Given the description of an element on the screen output the (x, y) to click on. 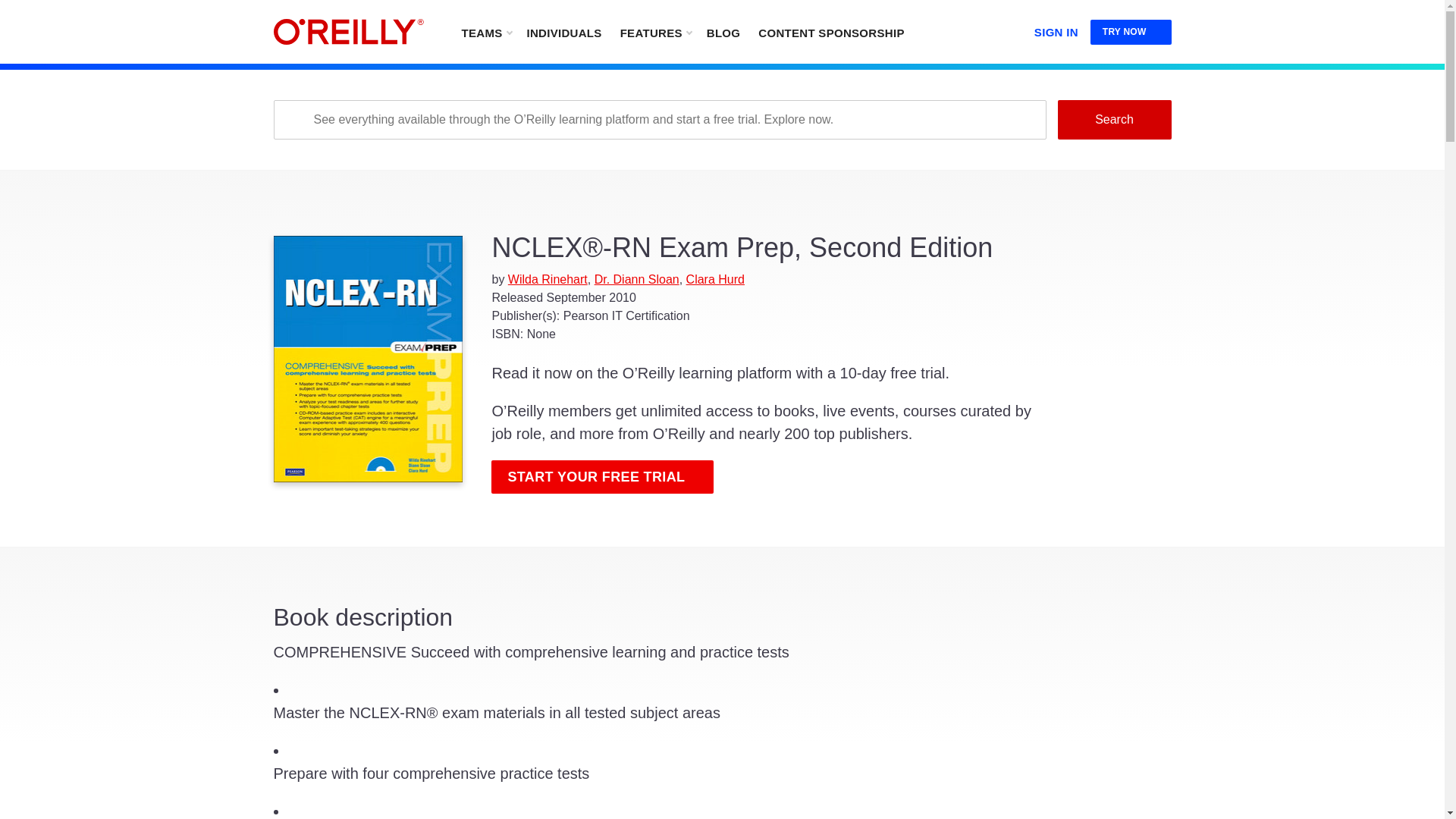
SIGN IN (1055, 29)
FEATURES (655, 31)
BLOG (723, 31)
INDIVIDUALS (563, 31)
TRY NOW (1131, 32)
Clara Hurd (714, 278)
Dr. Diann Sloan (636, 278)
START YOUR FREE TRIAL (602, 476)
Search (1113, 119)
Search (1113, 119)
Wilda Rinehart (548, 278)
CONTENT SPONSORSHIP (831, 31)
TEAMS (486, 31)
Search (1113, 119)
home page (348, 31)
